Given the description of an element on the screen output the (x, y) to click on. 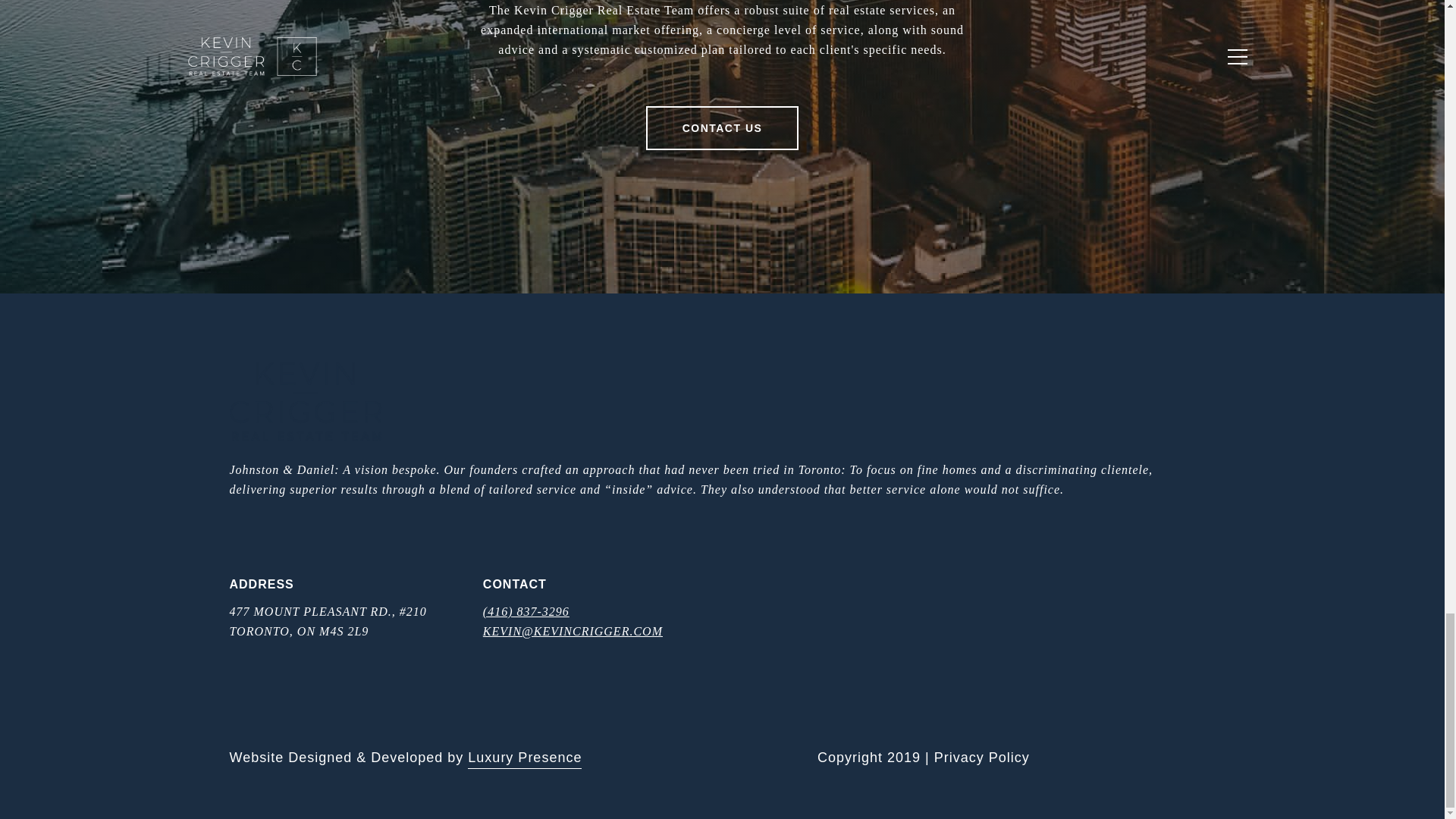
Luxury Presence (523, 757)
CONTACT US (722, 127)
Privacy Policy (981, 757)
